Given the description of an element on the screen output the (x, y) to click on. 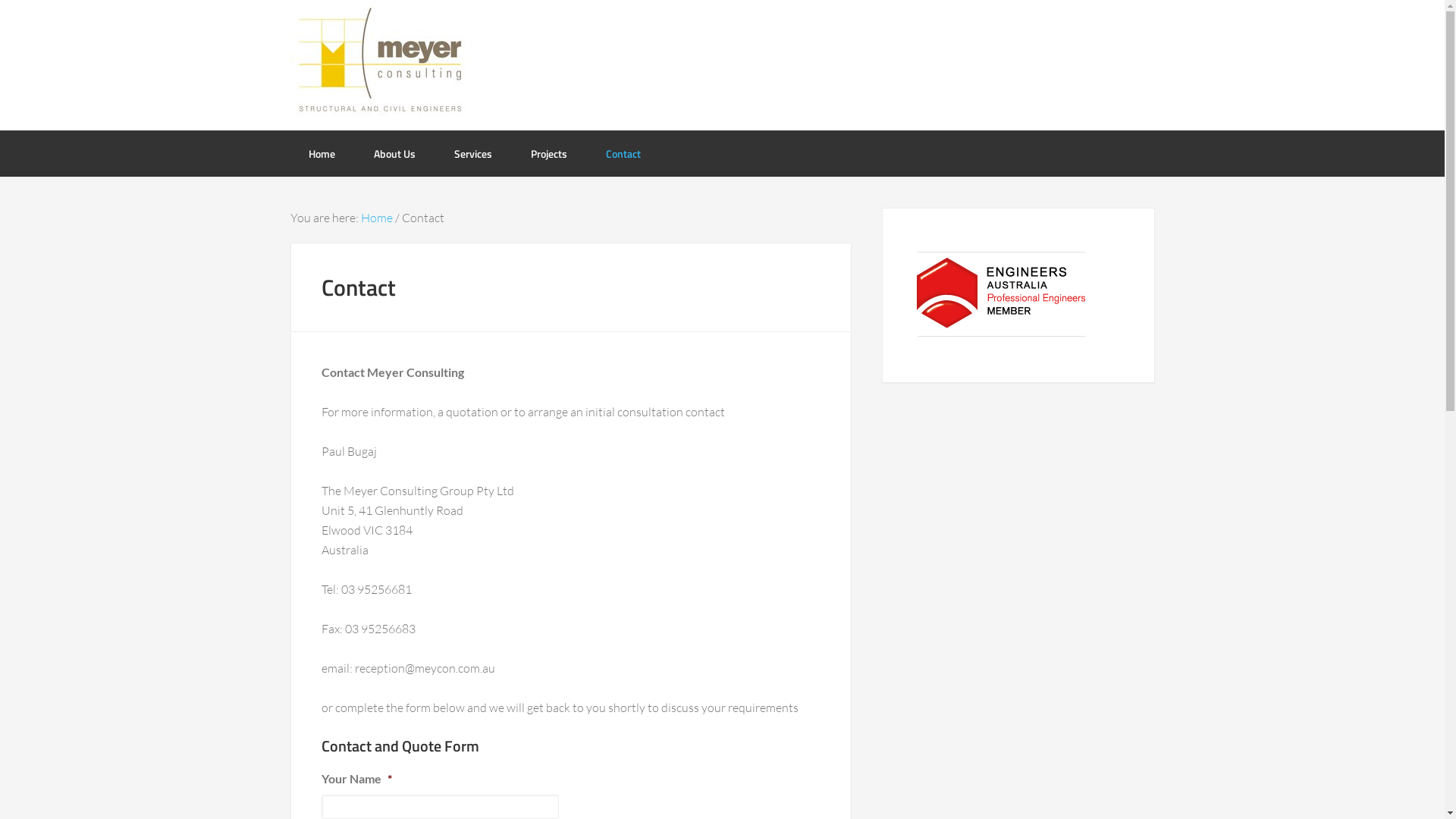
Home Element type: text (376, 217)
Home Element type: text (320, 153)
Contact Element type: text (622, 153)
About Us Element type: text (393, 153)
Services Element type: text (472, 153)
Projects Element type: text (548, 153)
